Given the description of an element on the screen output the (x, y) to click on. 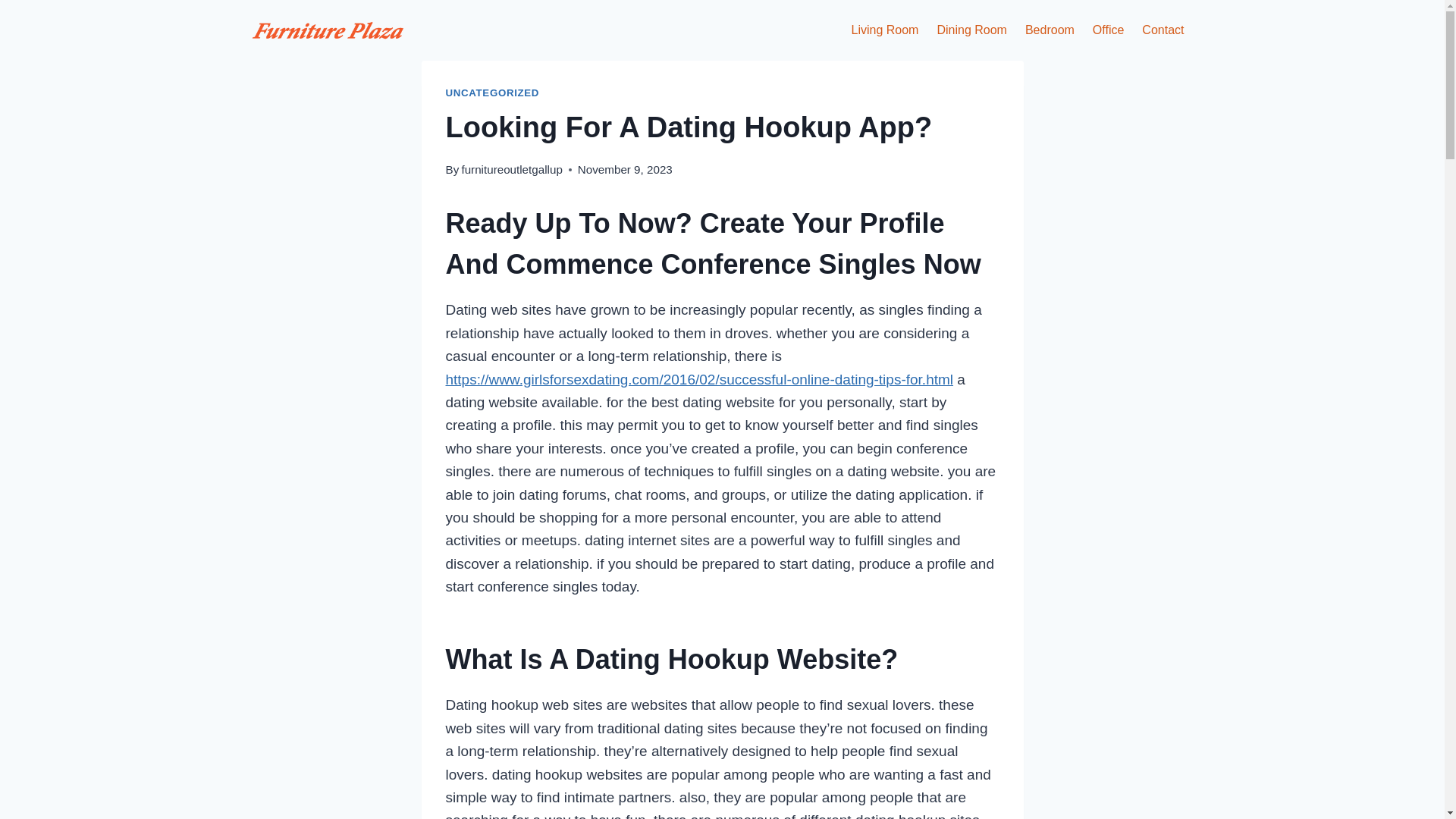
Living Room (885, 30)
UNCATEGORIZED (492, 92)
Bedroom (1049, 30)
Dining Room (970, 30)
Contact (1162, 30)
furnitureoutletgallup (511, 169)
Office (1108, 30)
